Given the description of an element on the screen output the (x, y) to click on. 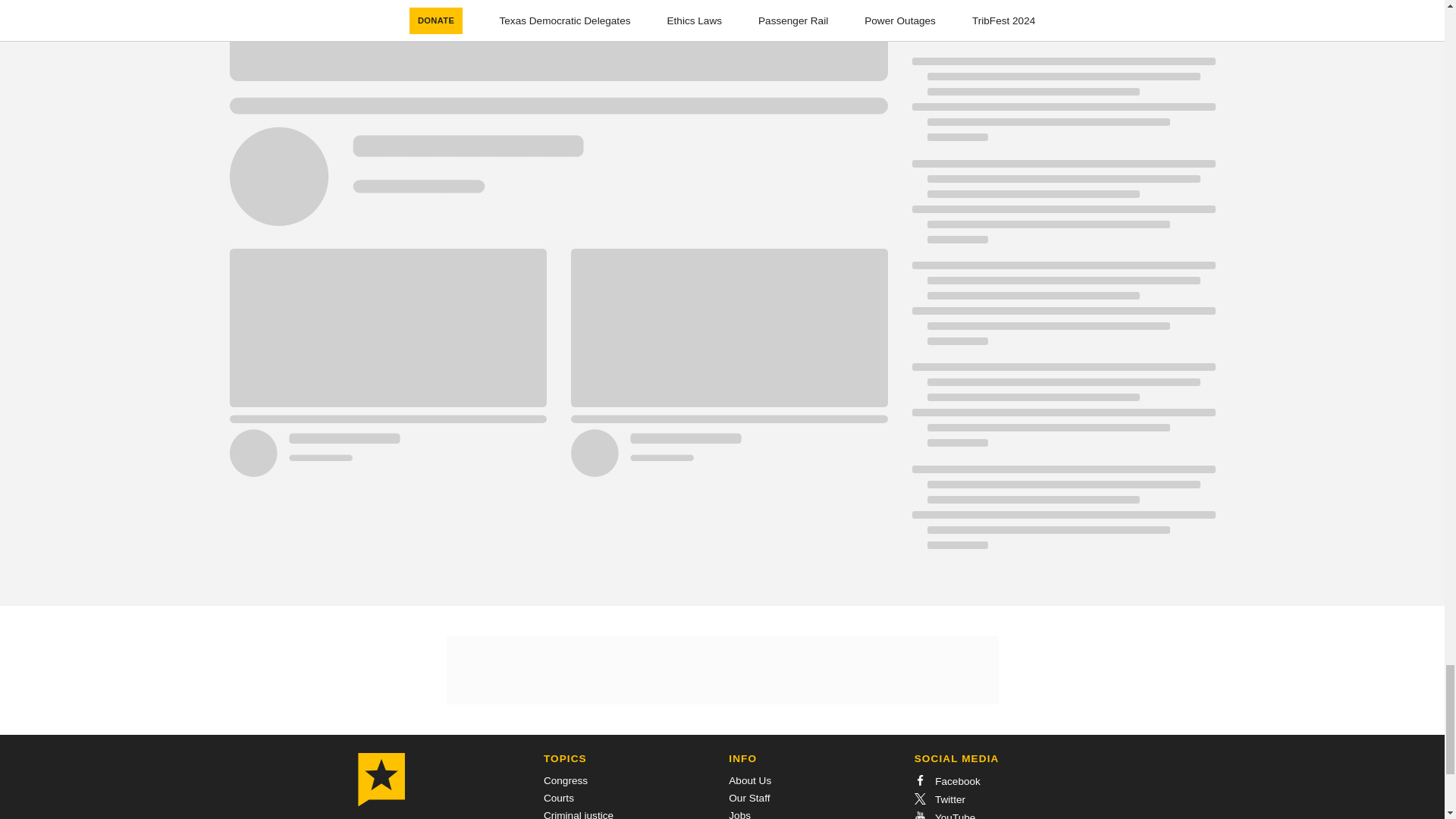
Loading indicator (1062, 310)
Loading indicator (1062, 27)
Facebook (946, 781)
Loading indicator (1062, 208)
Loading indicator (1062, 412)
Loading indicator (1062, 515)
Loading indicator (1062, 106)
About Us (750, 780)
